Given the description of an element on the screen output the (x, y) to click on. 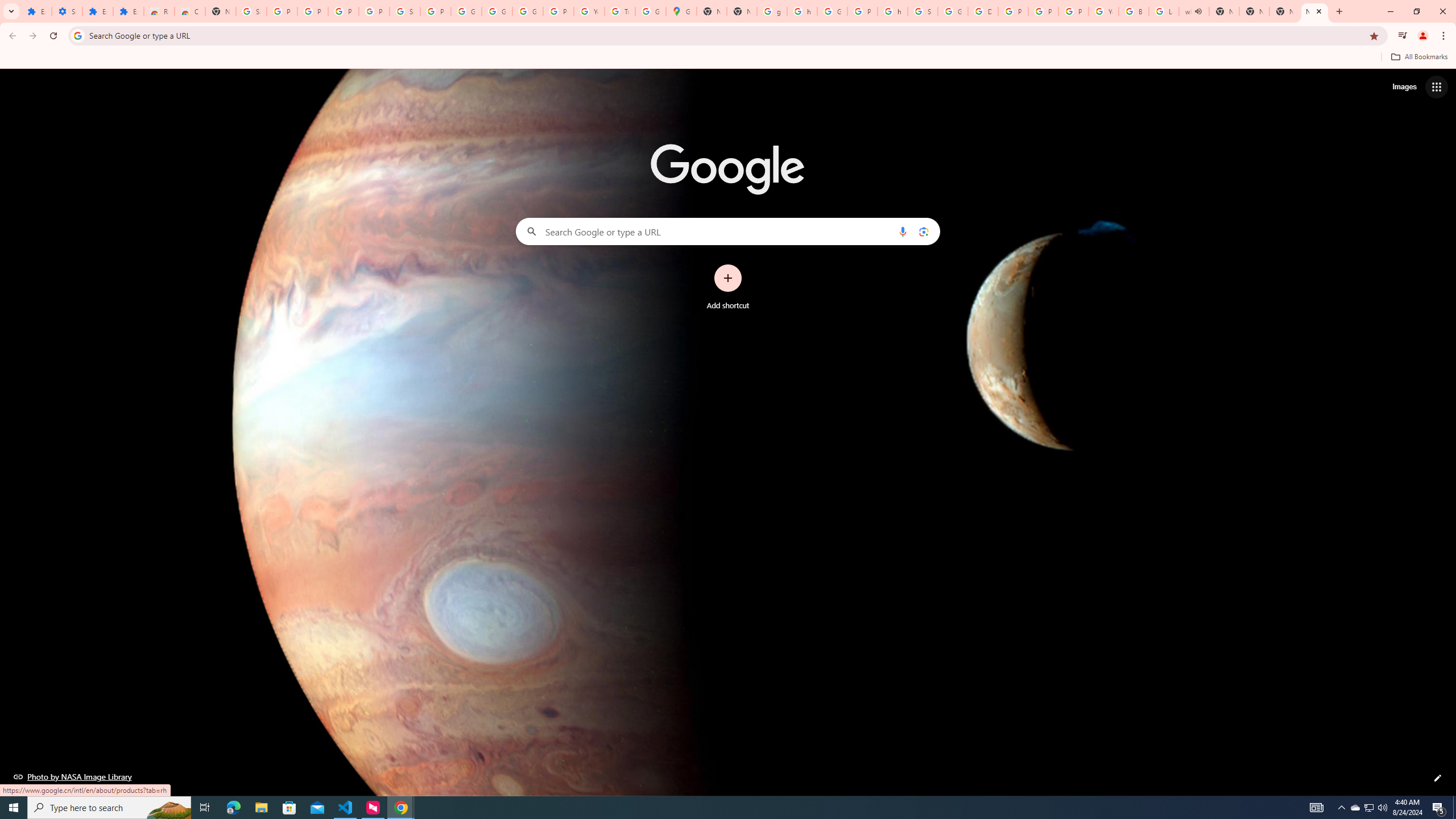
https://scholar.google.com/ (801, 11)
Mute tab (1197, 10)
Customize this page (1437, 778)
Extensions (97, 11)
New Tab (220, 11)
Photo by NASA Image Library (72, 776)
Extensions (127, 11)
Extensions (36, 11)
